Given the description of an element on the screen output the (x, y) to click on. 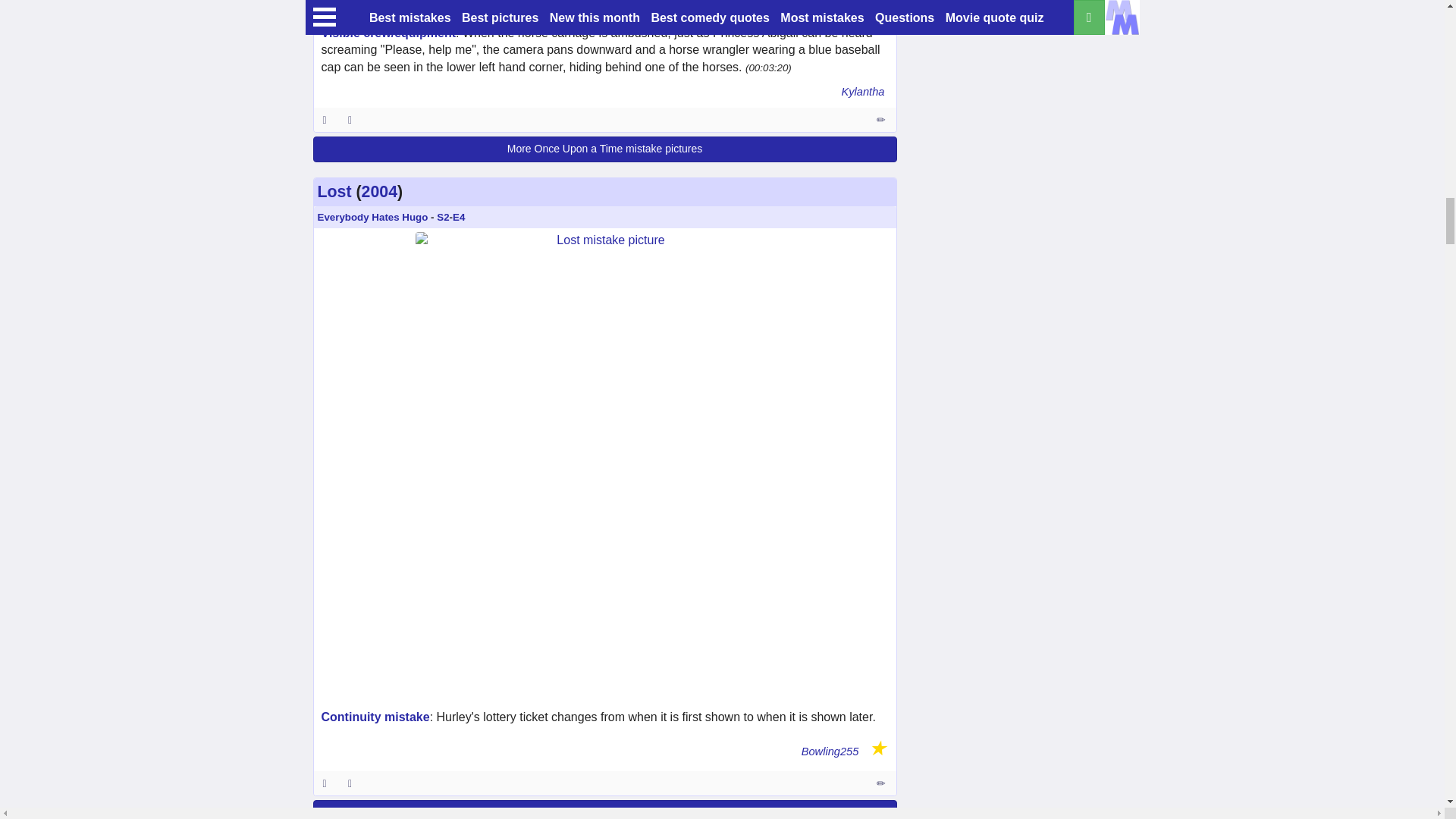
ID 198425: 19th January 2014 (325, 119)
Share this entry (353, 119)
ID 95673: 14th October 2005 (325, 783)
Entry 198425 (881, 119)
